Given the description of an element on the screen output the (x, y) to click on. 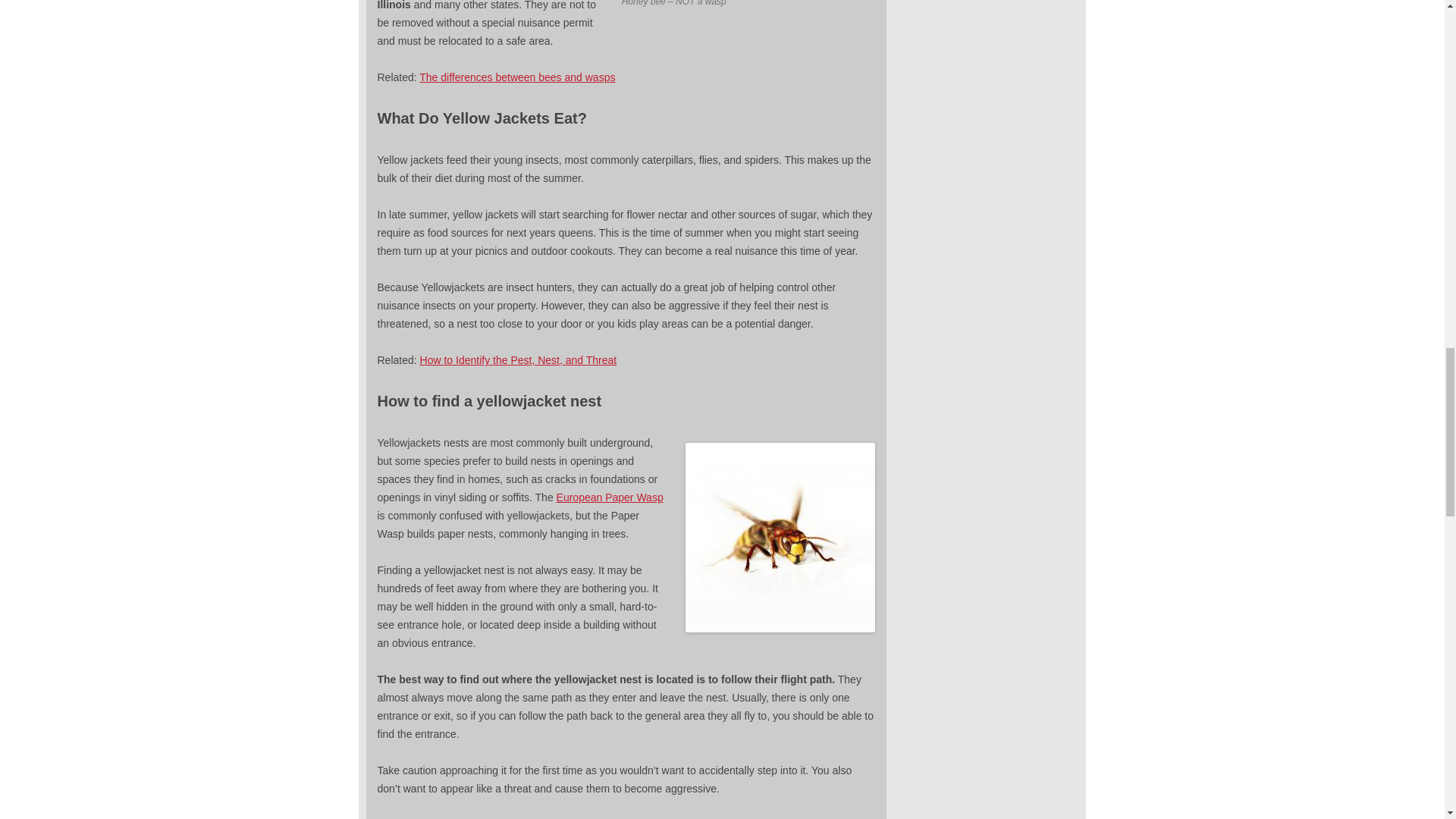
The differences between bees and wasps (516, 77)
How to Identify the Pest, Nest, and Threat (518, 359)
European Paper Wasp (609, 497)
